Given the description of an element on the screen output the (x, y) to click on. 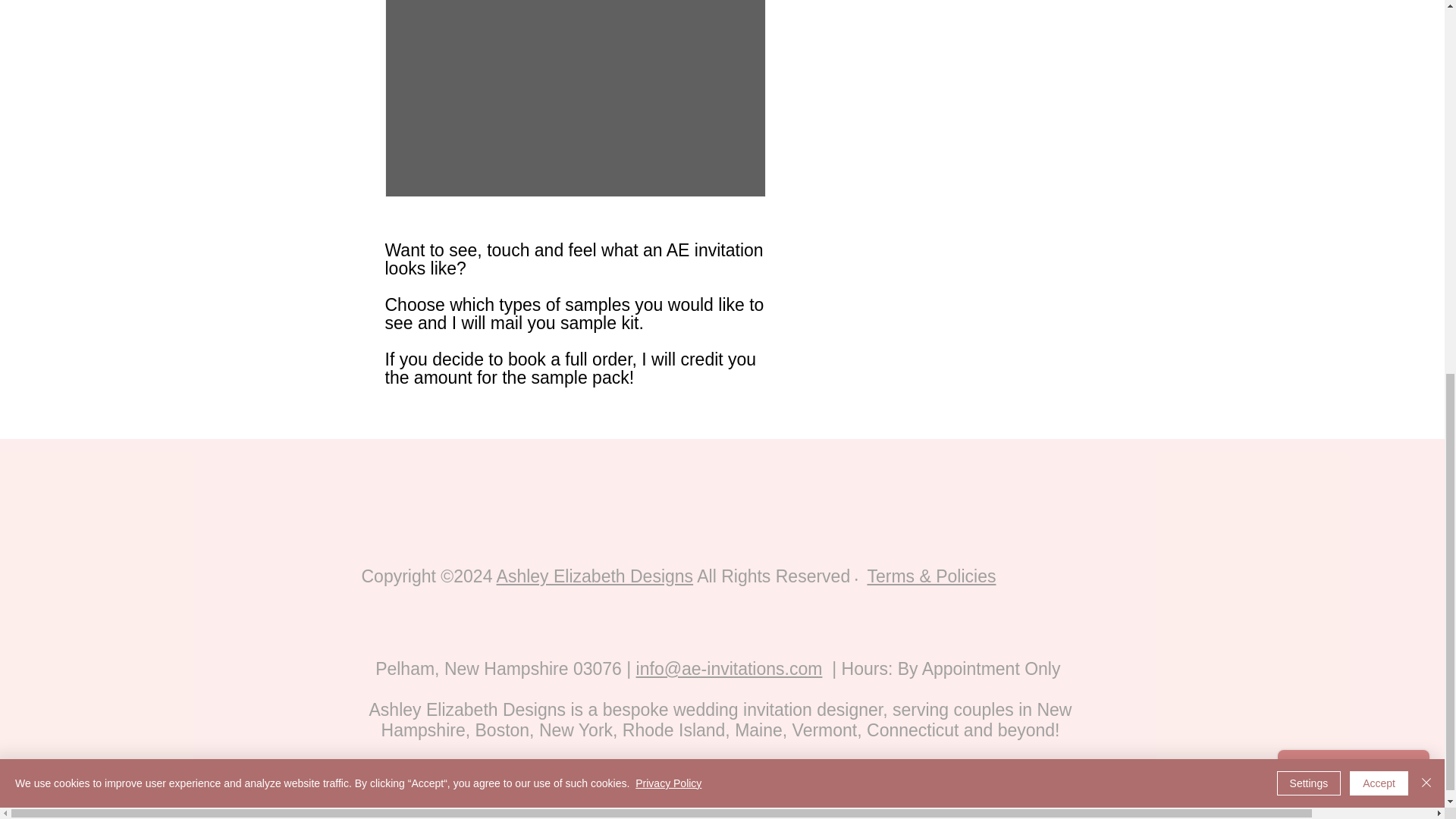
Wix Chat (1356, 70)
